Given the description of an element on the screen output the (x, y) to click on. 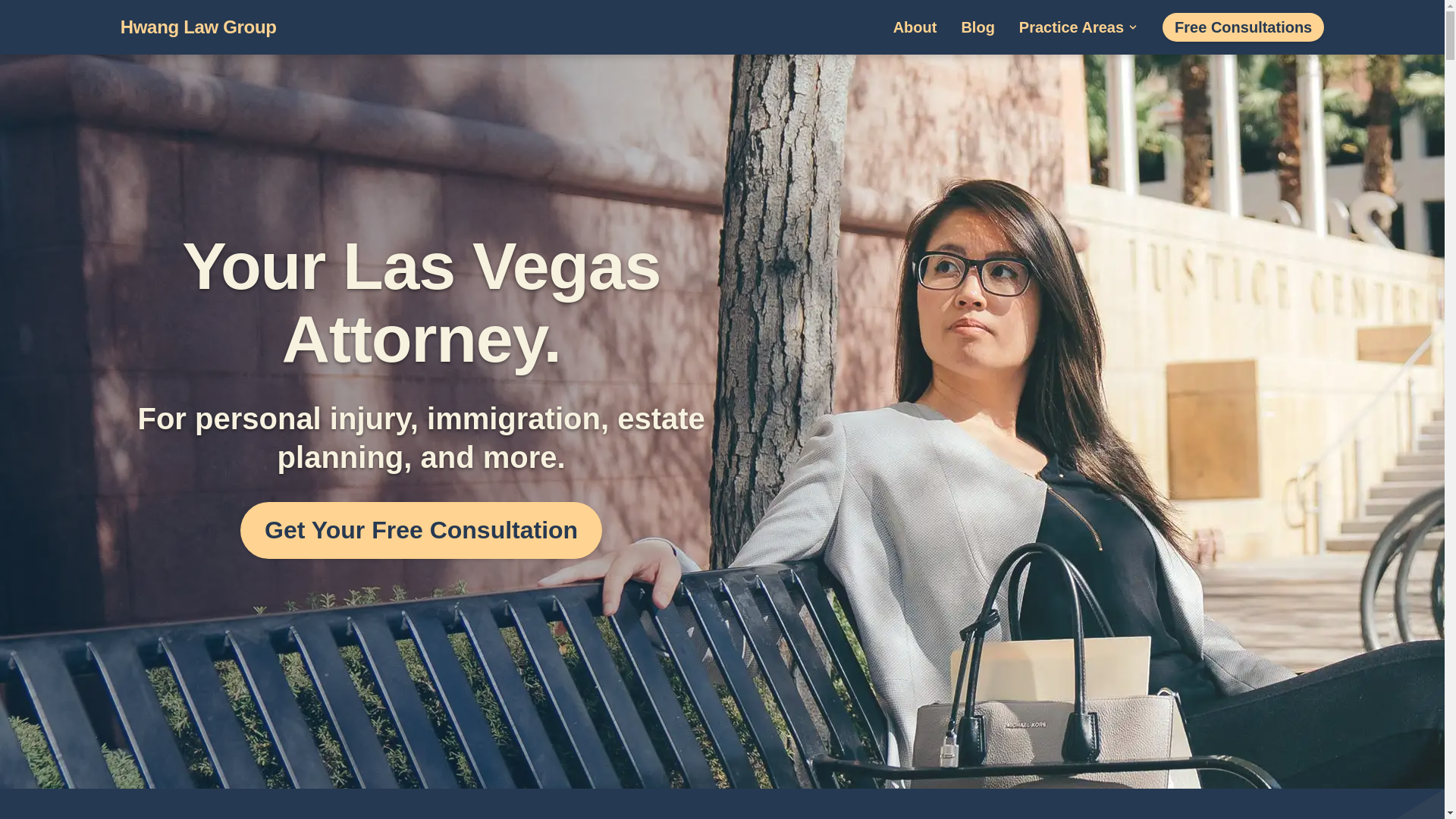
Free Consultations (1242, 27)
Schedule a free consultation with our Las Vegas Attorneys (421, 530)
About (915, 27)
Schedule a free consultation with our Las Vegas Attorneys (1242, 27)
Blog (977, 27)
Practice Areas (1078, 27)
Hwang Law Group (198, 26)
Get Your Free Consultation (421, 530)
